Given the description of an element on the screen output the (x, y) to click on. 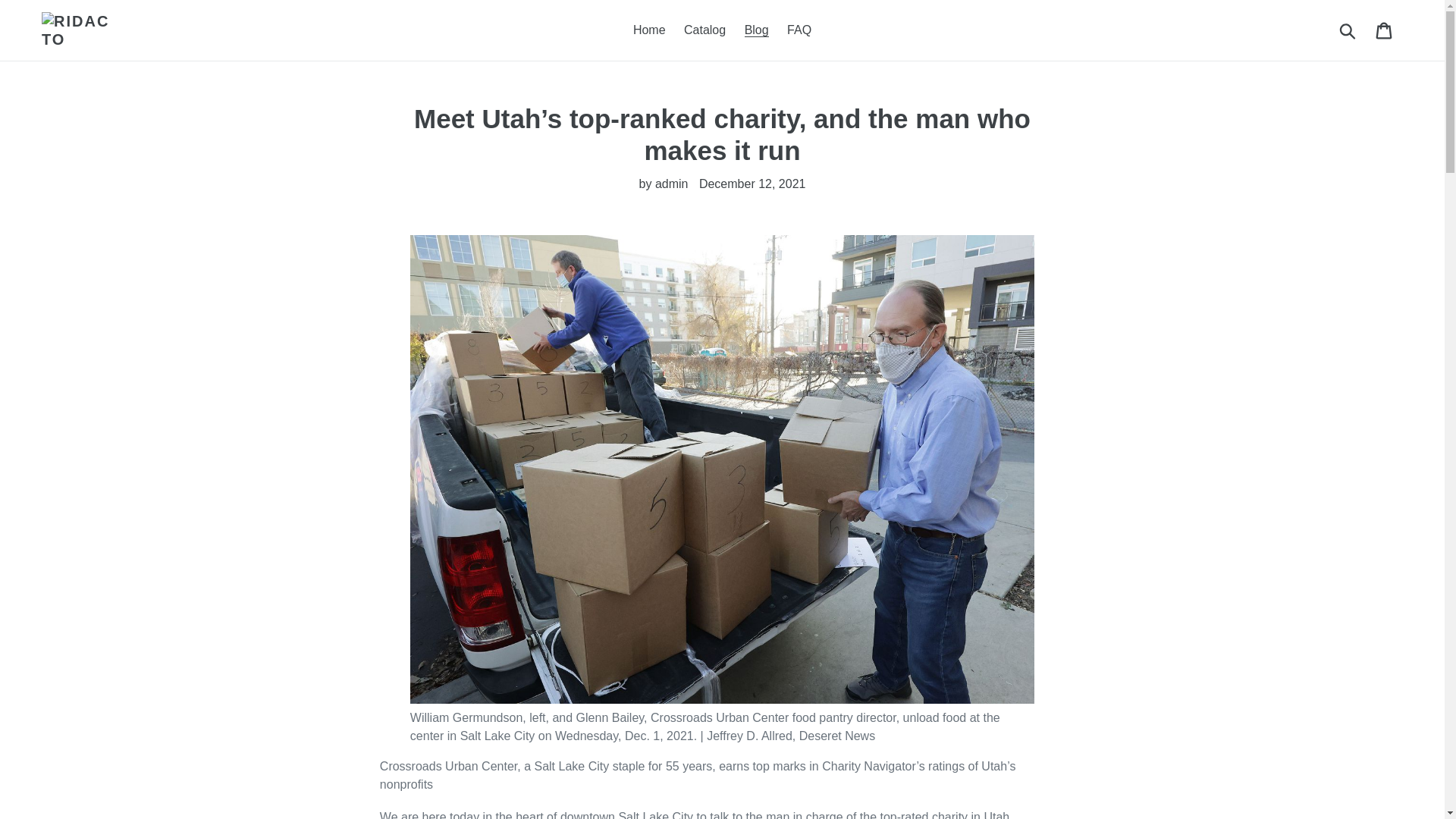
Catalog (705, 29)
Submit (1348, 29)
FAQ (798, 29)
Blog (756, 29)
Cart (1385, 29)
Home (649, 29)
